Given the description of an element on the screen output the (x, y) to click on. 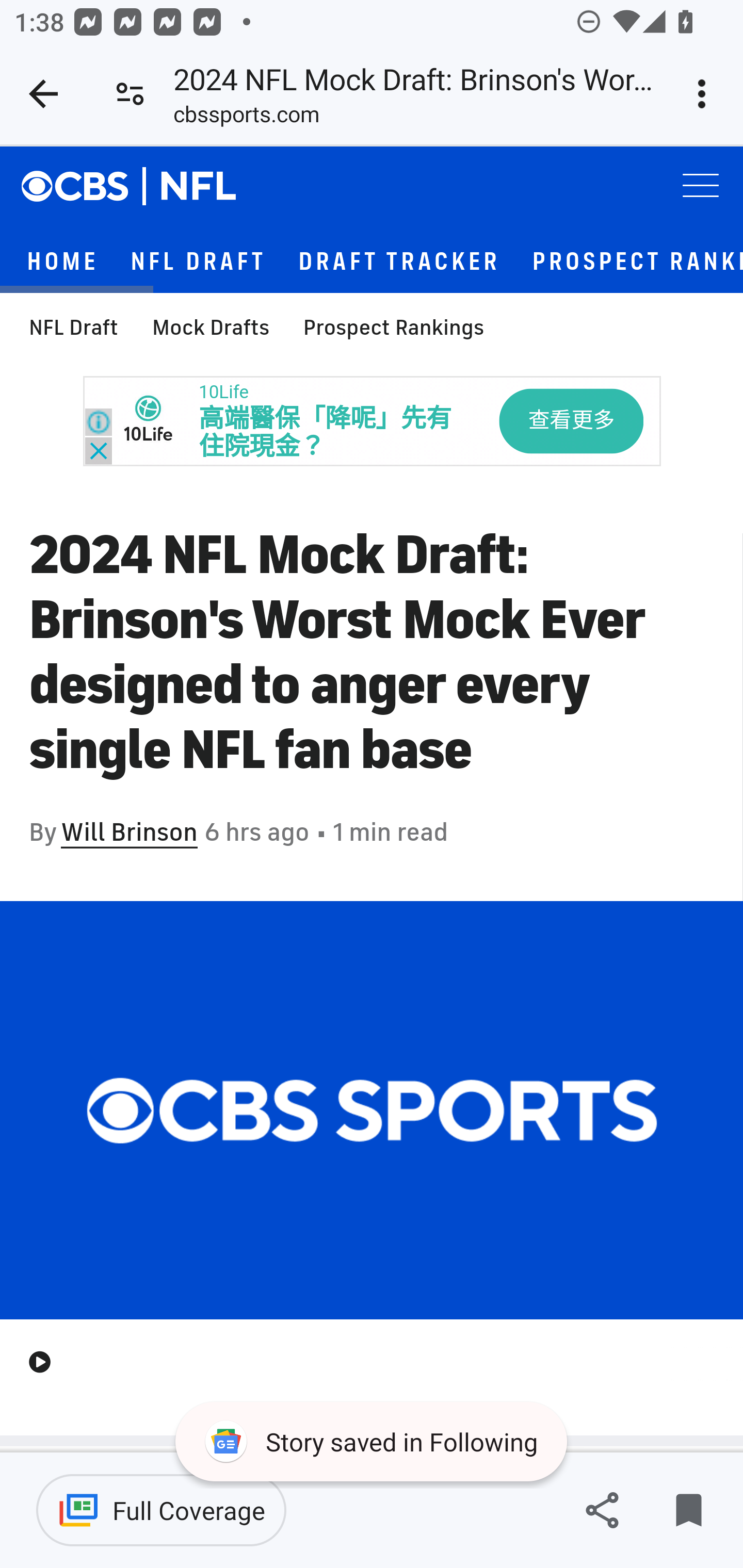
Close tab (43, 93)
Customize and control Google Chrome (705, 93)
Connection is secure (129, 93)
cbssports.com (246, 117)
 (85, 186)
 (199, 186)
HOME (61, 263)
NFL DRAFT (198, 263)
DRAFT TRACKER (399, 263)
PROSPECT RANKINGS (637, 263)
NFL Draft (73, 328)
Mock Drafts (211, 328)
Prospect Rankings (393, 328)
10Life (223, 393)
查看更多 (571, 422)
高端醫保「降呢」先有 住院現金？ 高端醫保「降呢」先有 住院現金？ (325, 434)
Will Brinson (128, 832)
Full Coverage (161, 1509)
Share (601, 1510)
Remove from saved stories (688, 1510)
